Given the description of an element on the screen output the (x, y) to click on. 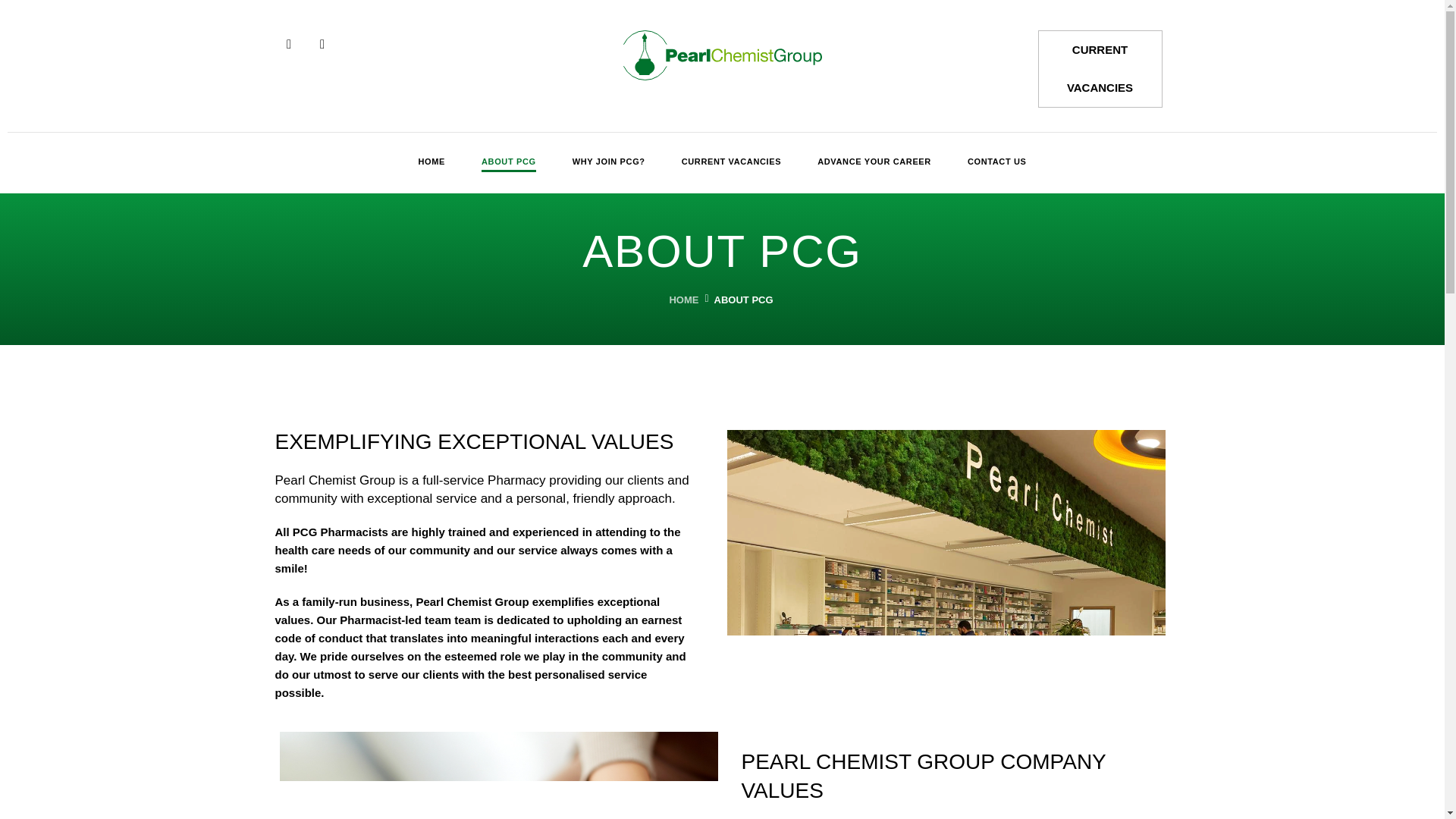
ADVANCE YOUR CAREER (873, 161)
CONTACT US (997, 161)
Skip to content (11, 31)
CURRENT VACANCIES (1098, 68)
ABOUT PCG (508, 161)
CURRENT VACANCIES (731, 161)
WHY JOIN PCG? (608, 161)
HOME (681, 298)
HOME (431, 161)
